Given the description of an element on the screen output the (x, y) to click on. 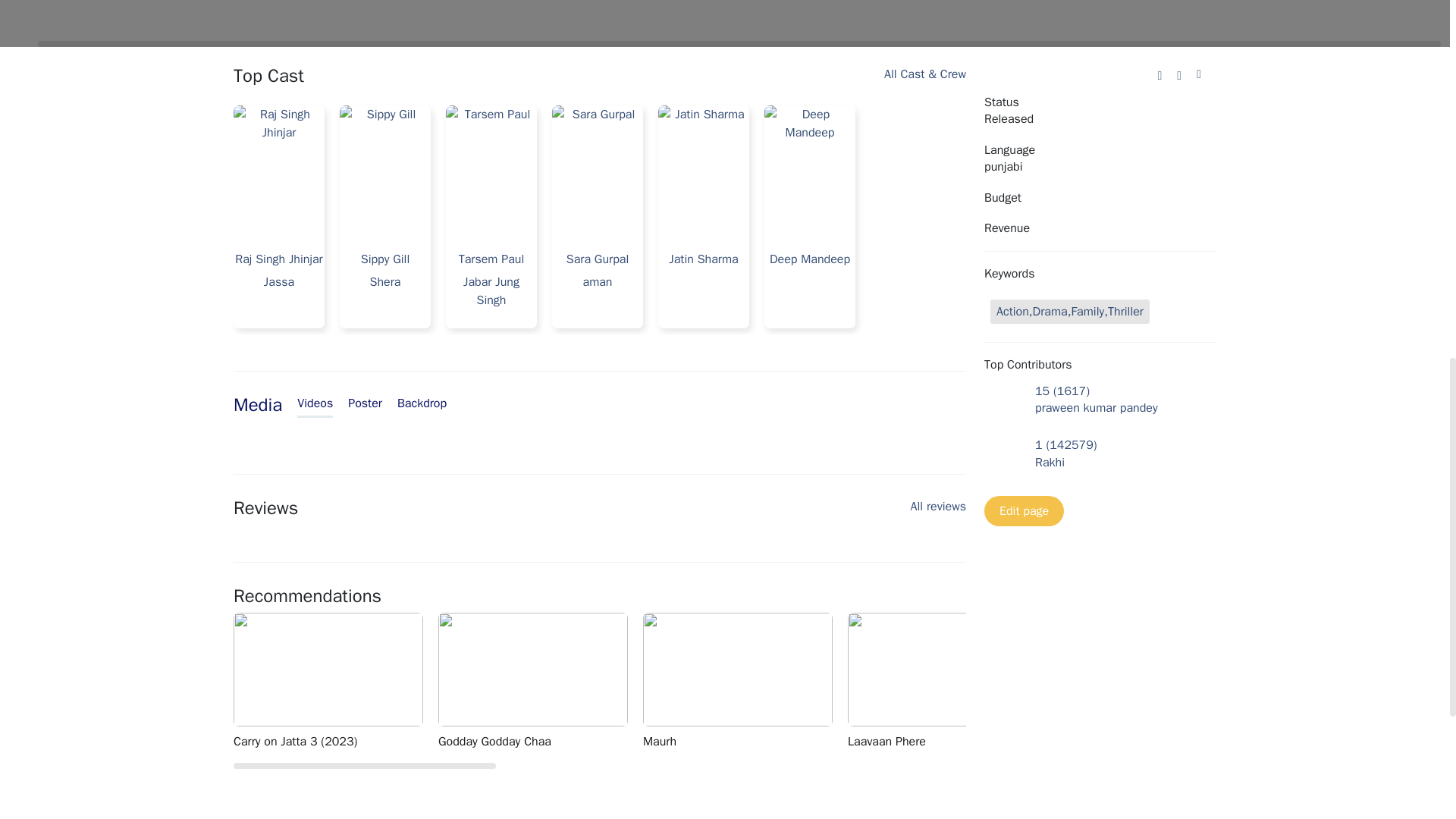
Laavaan Phere (949, 681)
Godday Godday Chaa (540, 681)
Videos (315, 405)
MEDAL (1154, 681)
Backdrop (421, 404)
All reviews (938, 511)
Poster (364, 404)
Maurh (745, 681)
